Given the description of an element on the screen output the (x, y) to click on. 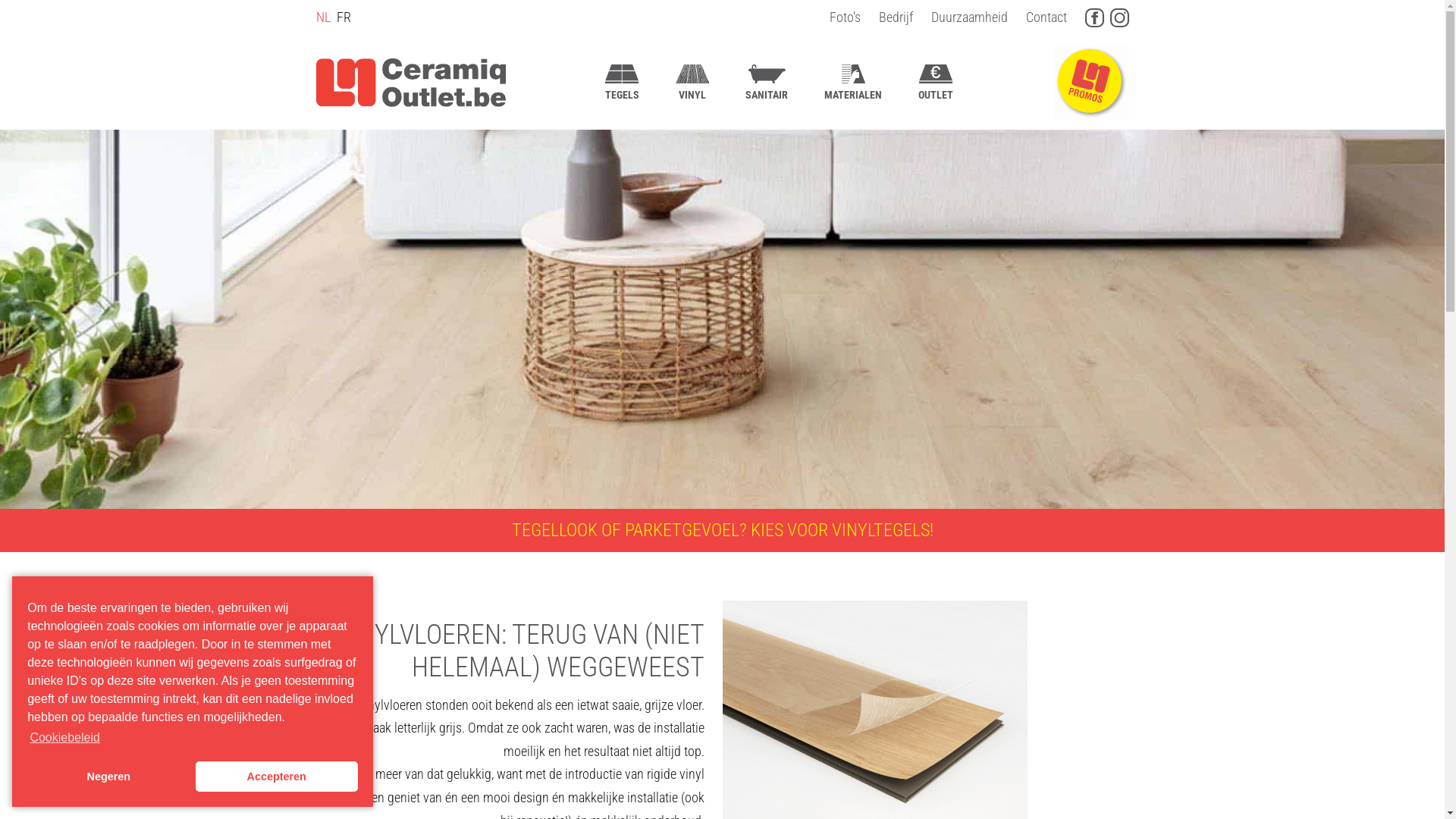
Foto's Element type: text (844, 17)
VINYL Element type: text (692, 82)
TEGELS Element type: text (622, 82)
SANITAIR Element type: text (766, 82)
Bedrijf Element type: text (895, 17)
NL Element type: text (322, 17)
Duurzaamheid Element type: text (969, 17)
Negeren Element type: text (108, 776)
Contact Element type: text (1045, 17)
FR Element type: text (343, 17)
Ceramiq Outlet -  Element type: hover (410, 82)
Cookiebeleid Element type: text (63, 737)
Accepteren Element type: text (276, 776)
MATERIALEN Element type: text (852, 82)
OUTLET Element type: text (935, 82)
